Given the description of an element on the screen output the (x, y) to click on. 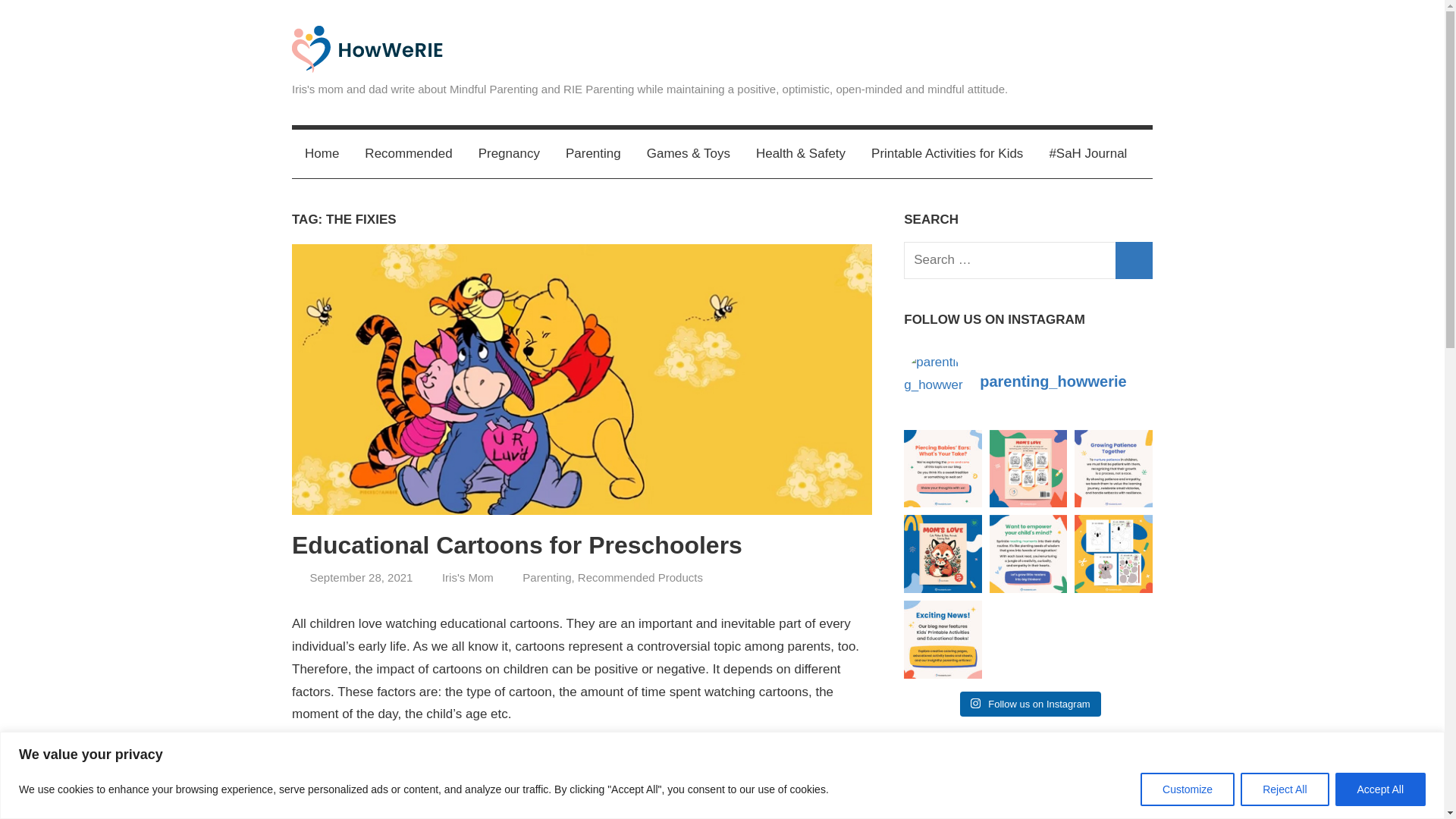
Reject All (1283, 788)
Customize (1187, 788)
Printable Activities for Kids (947, 153)
Home (322, 153)
Educational Cartoons for Preschoolers (517, 544)
View all posts by Iris's Mom (467, 576)
Twitter (1066, 46)
Iris's Mom (467, 576)
Pregnancy (509, 153)
Pinterest (1135, 46)
Accept All (1380, 788)
Search (1134, 260)
Recommended Products (640, 576)
Parenting (593, 153)
Recommended (408, 153)
